Given the description of an element on the screen output the (x, y) to click on. 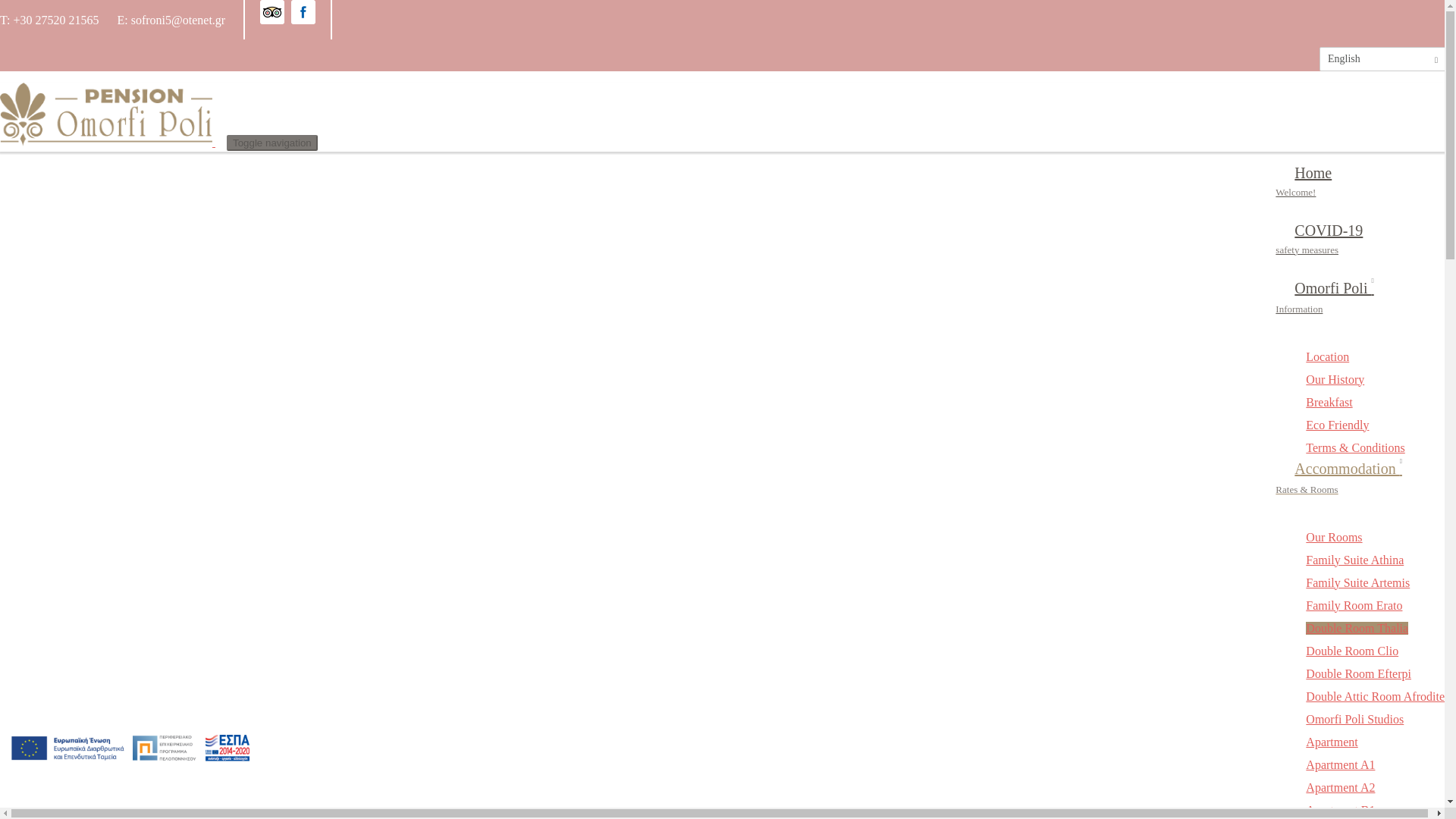
Apartment (1331, 741)
Eco Friendly (1337, 424)
Our History (1335, 379)
Family Suite Athina (1354, 559)
Double Room Efterpi (1358, 673)
Location (1327, 356)
Family Room Erato (1354, 604)
Omorfi Poli Studios (1354, 718)
Our Rooms (1333, 536)
Home (113, 141)
Apartment B1 (1340, 809)
Double Room Thalia (1356, 627)
Apartment A1 (1340, 764)
Toggle navigation (272, 142)
